Given the description of an element on the screen output the (x, y) to click on. 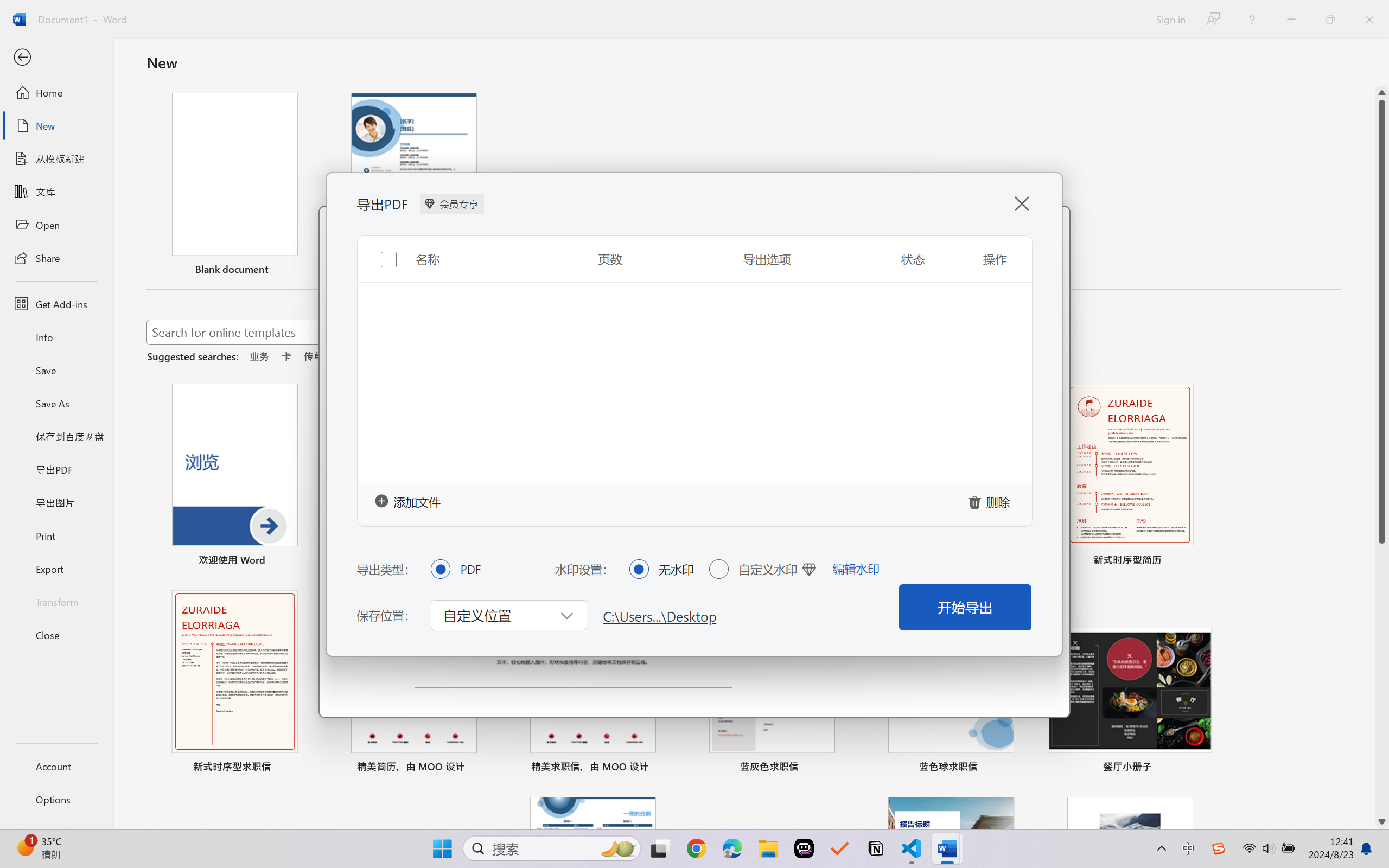
New (56, 125)
PDF (440, 568)
Info (56, 337)
Blank document (234, 185)
Options (56, 798)
